Given the description of an element on the screen output the (x, y) to click on. 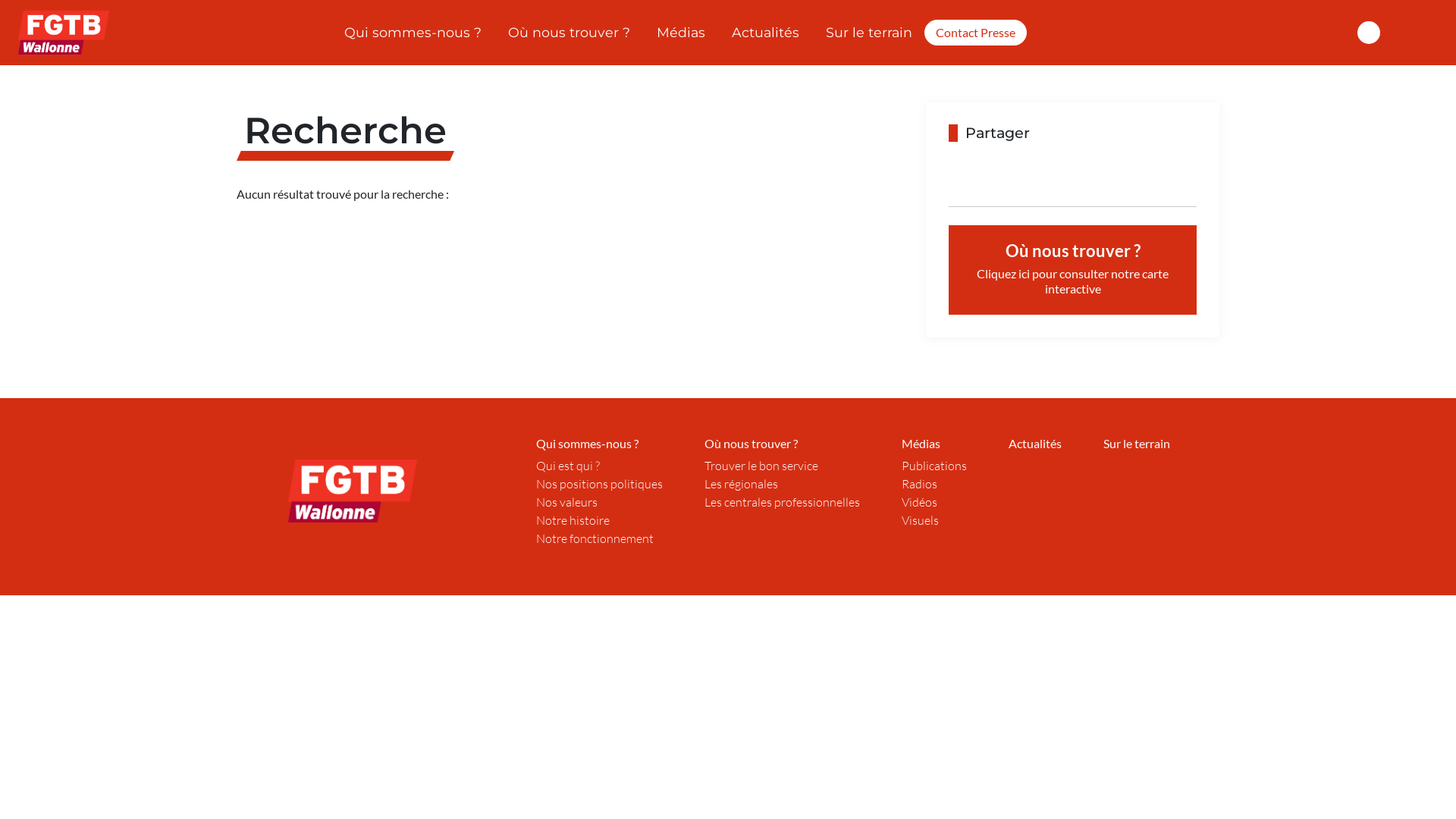
Qui sommes-nous ? Element type: text (587, 443)
Visuels Element type: text (919, 519)
Nos positions politiques Element type: text (599, 483)
Notre histoire Element type: text (572, 519)
Radios Element type: text (919, 483)
Qui sommes-nous ? Element type: text (412, 32)
Qui est qui ? Element type: text (567, 465)
Sur le terrain Element type: text (868, 32)
Les centrales professionnelles Element type: text (781, 501)
Nos valeurs Element type: text (566, 501)
Notre fonctionnement Element type: text (594, 538)
Contact Presse Element type: text (975, 32)
Trouver le bon service Element type: text (761, 465)
Sur le terrain Element type: text (1136, 443)
Publications Element type: text (933, 465)
